Given the description of an element on the screen output the (x, y) to click on. 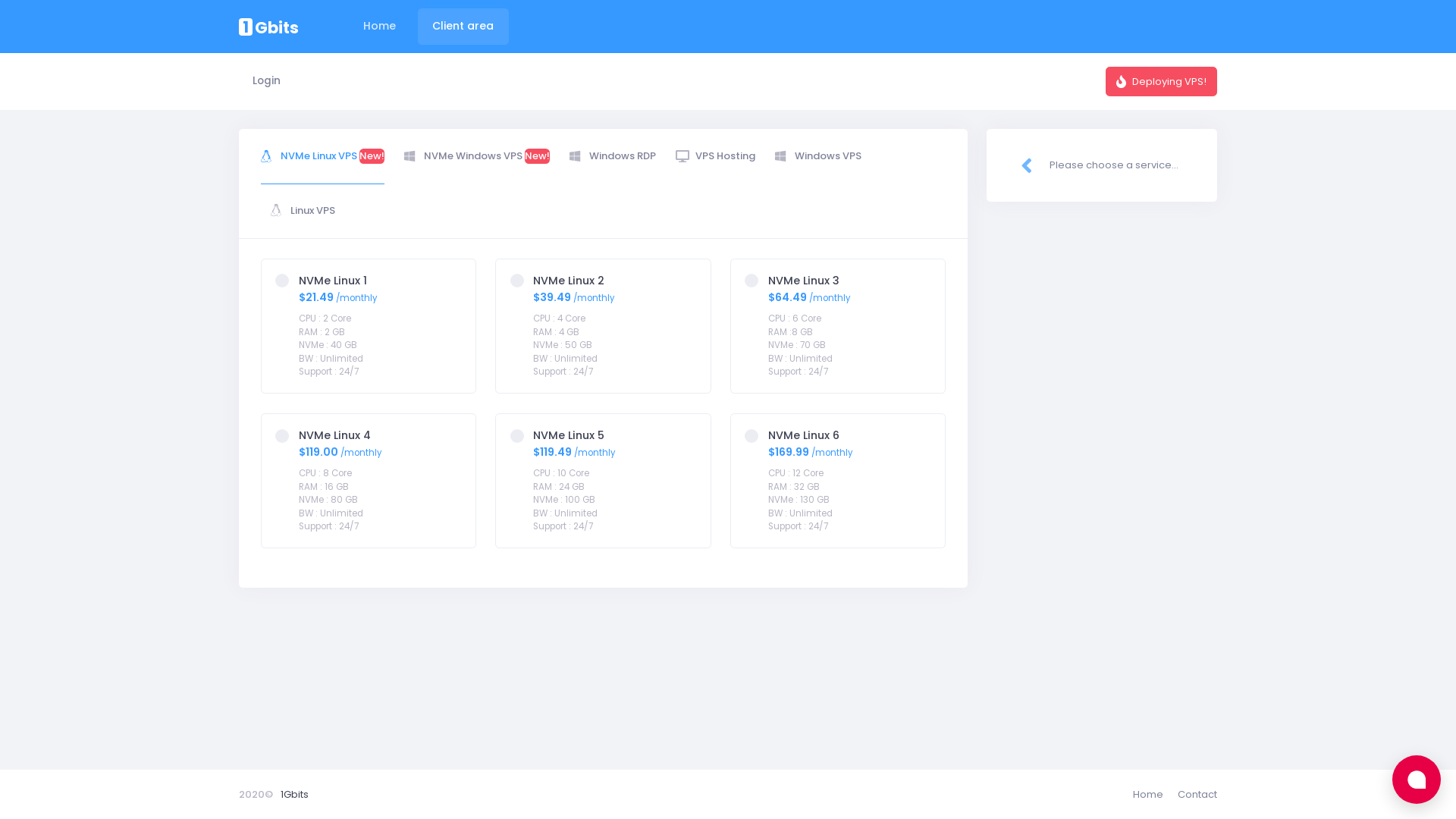
1
Gbits Element type: text (268, 26)
VPS Hosting Element type: text (715, 156)
Windows VPS Element type: text (818, 156)
Home Element type: text (1151, 794)
Open chat window Element type: hover (1416, 779)
Windows RDP Element type: text (612, 156)
1Gbits Element type: text (294, 794)
NVMe Linux VPS
New! Element type: text (322, 156)
Linux VPS Element type: text (302, 210)
Login Element type: text (265, 81)
Deploying VPS! Element type: text (1161, 80)
Contact Element type: text (1193, 794)
Client area Element type: text (462, 25)
NVMe Windows VPS
New! Element type: text (476, 156)
Home Element type: text (379, 25)
